Given the description of an element on the screen output the (x, y) to click on. 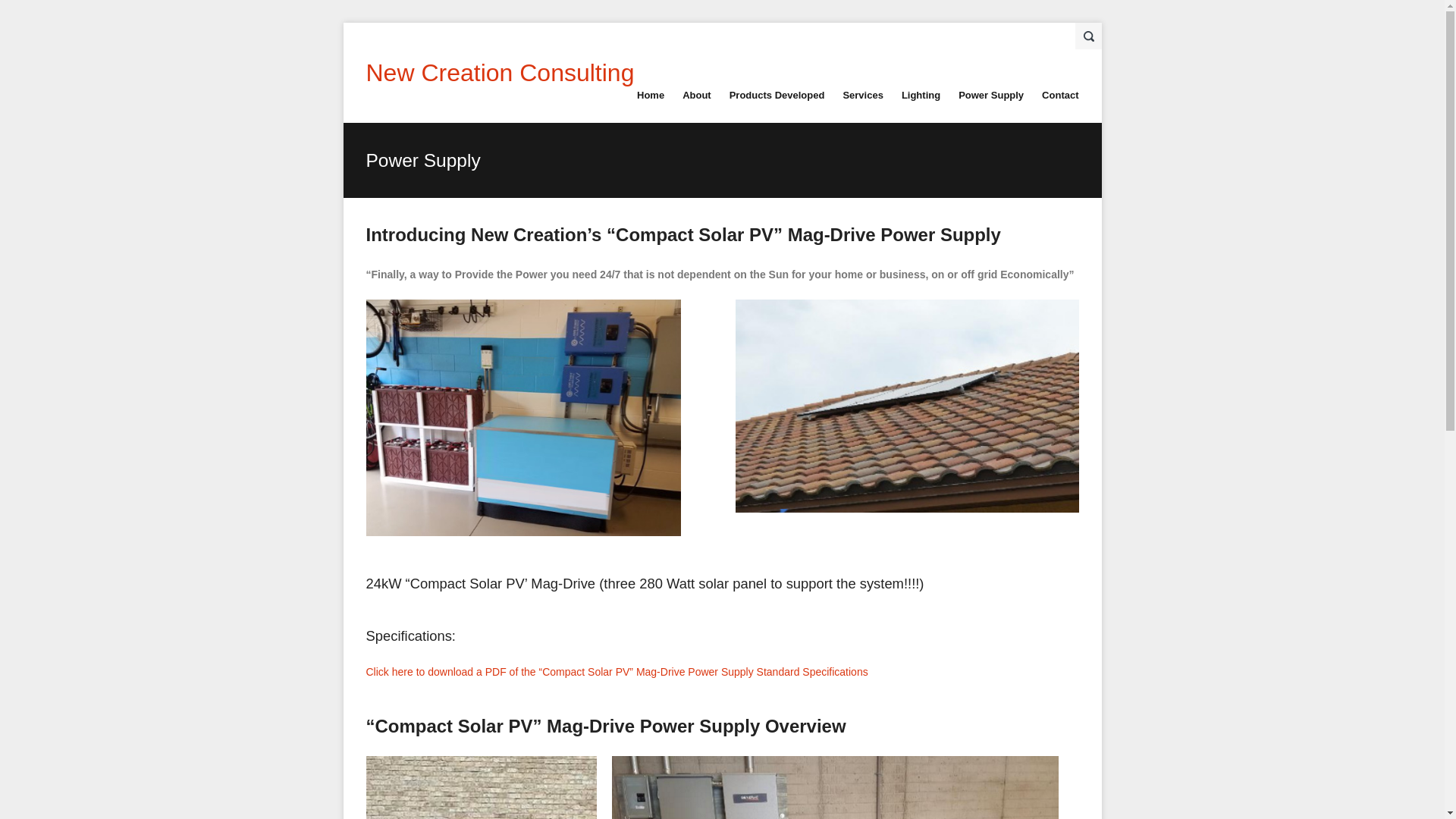
Services (863, 96)
Products Developed (777, 96)
New Creation Consulting (499, 72)
Lighting (920, 96)
Power Supply (990, 96)
Home (650, 96)
About (696, 96)
Contact (1060, 96)
